Given the description of an element on the screen output the (x, y) to click on. 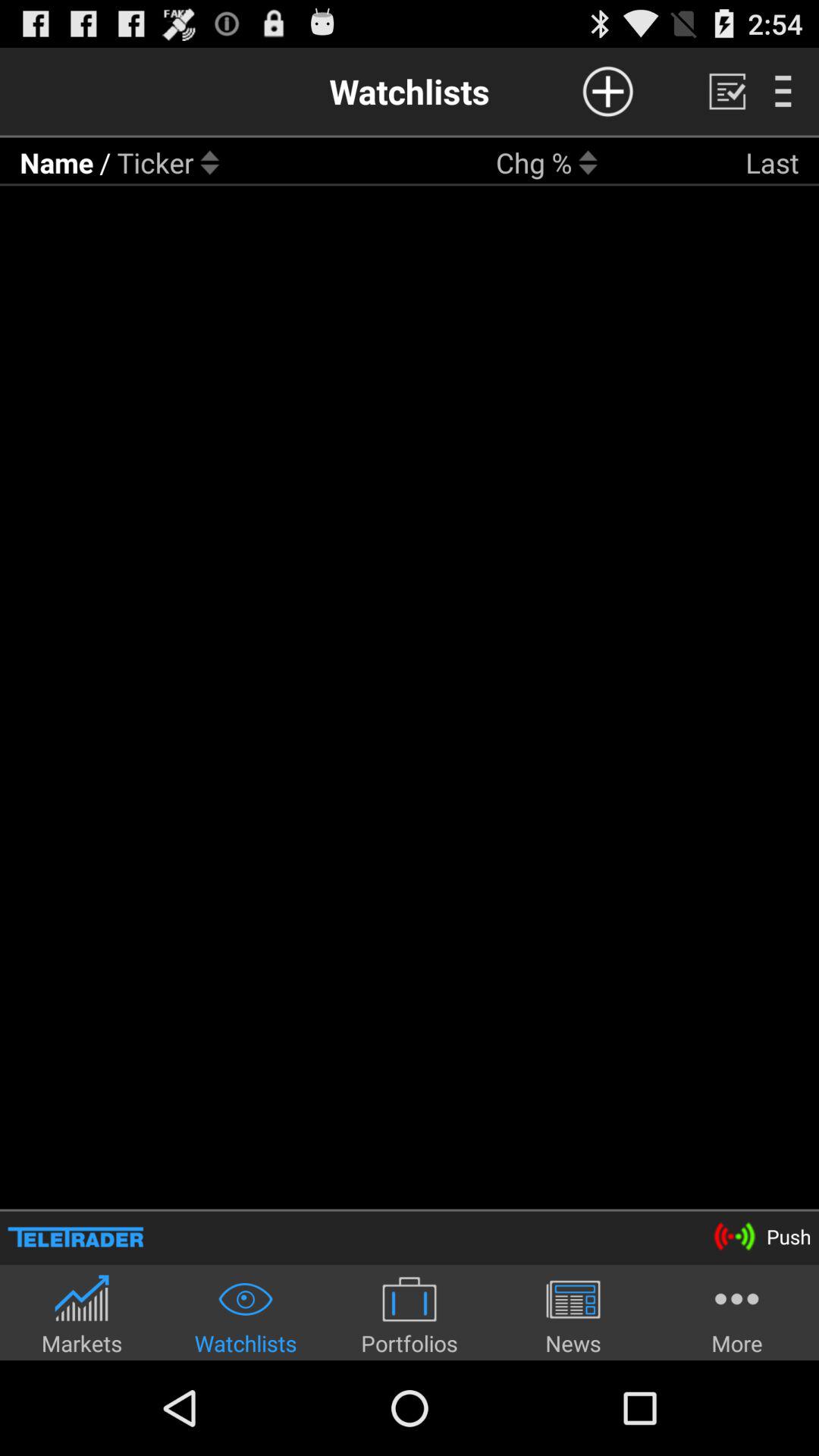
select icon to the right of the / (155, 162)
